Given the description of an element on the screen output the (x, y) to click on. 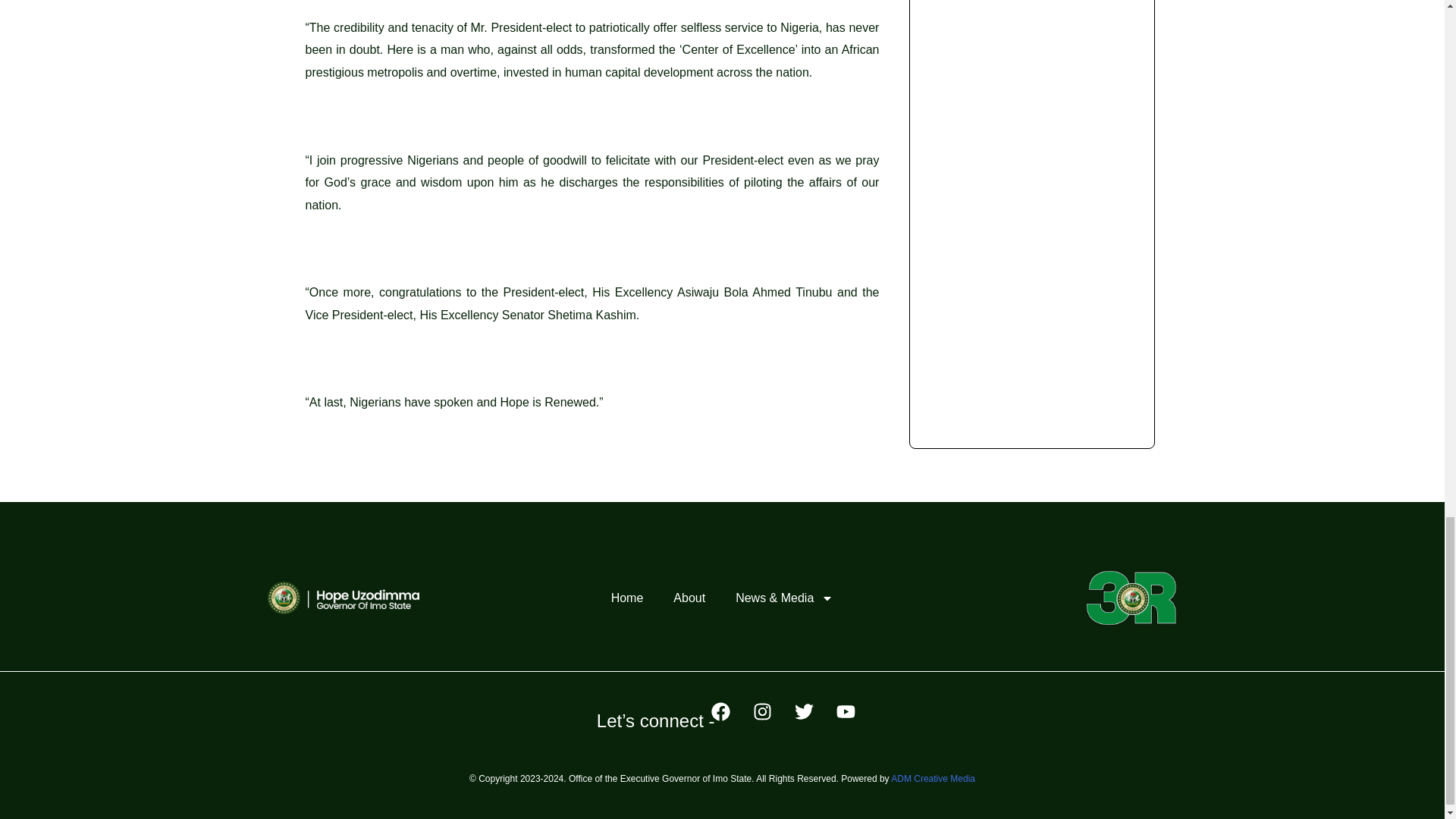
Facebook (730, 720)
Home (627, 597)
About (689, 597)
Twitter (813, 720)
Youtube (854, 720)
Instagram (771, 720)
ADM Creative Media (933, 778)
